Given the description of an element on the screen output the (x, y) to click on. 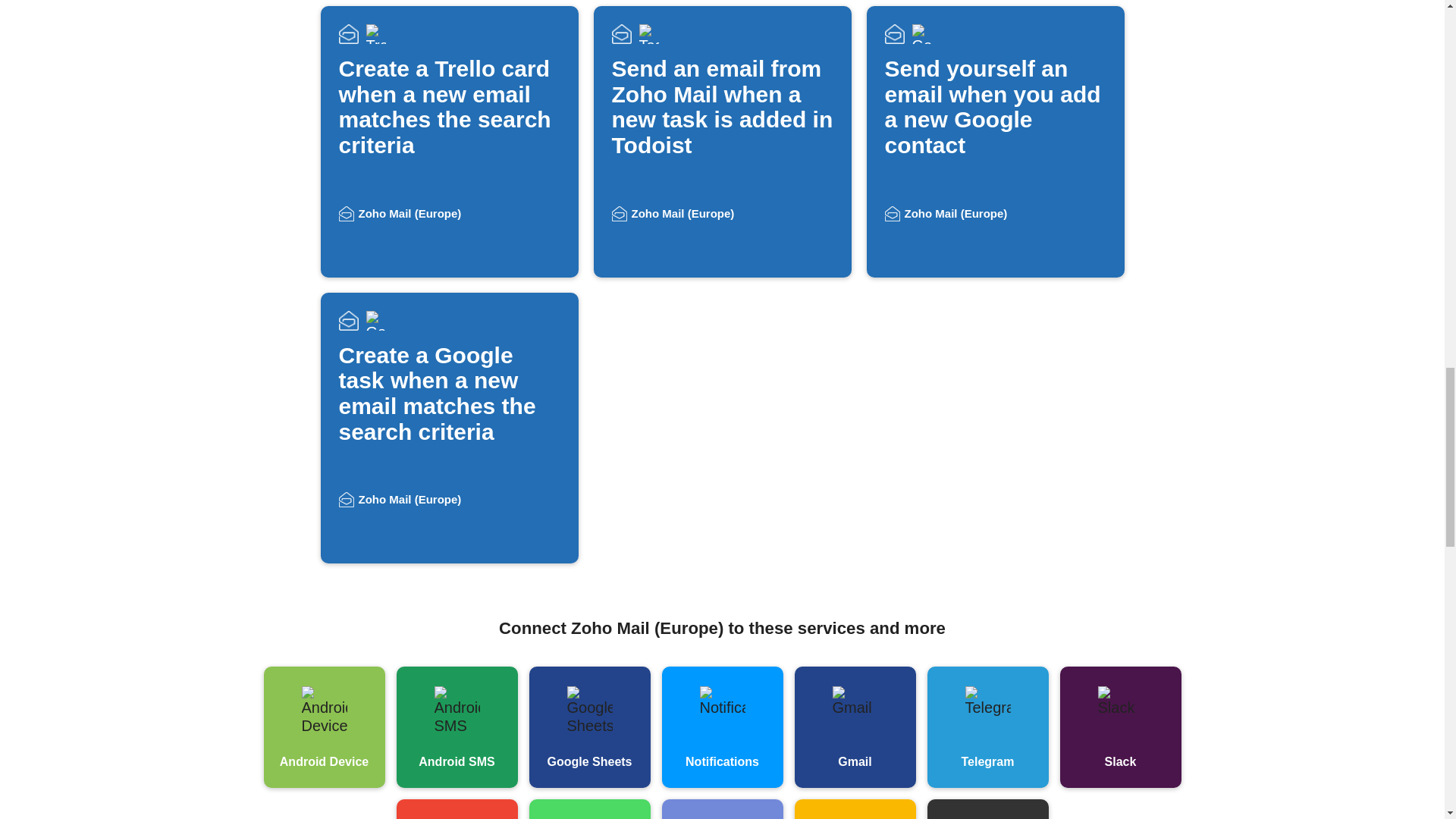
Android Device (324, 726)
Notifications (722, 726)
Gmail (854, 726)
Android SMS (456, 726)
Slack (1119, 726)
Google Sheets (589, 726)
Telegram (987, 726)
